Given the description of an element on the screen output the (x, y) to click on. 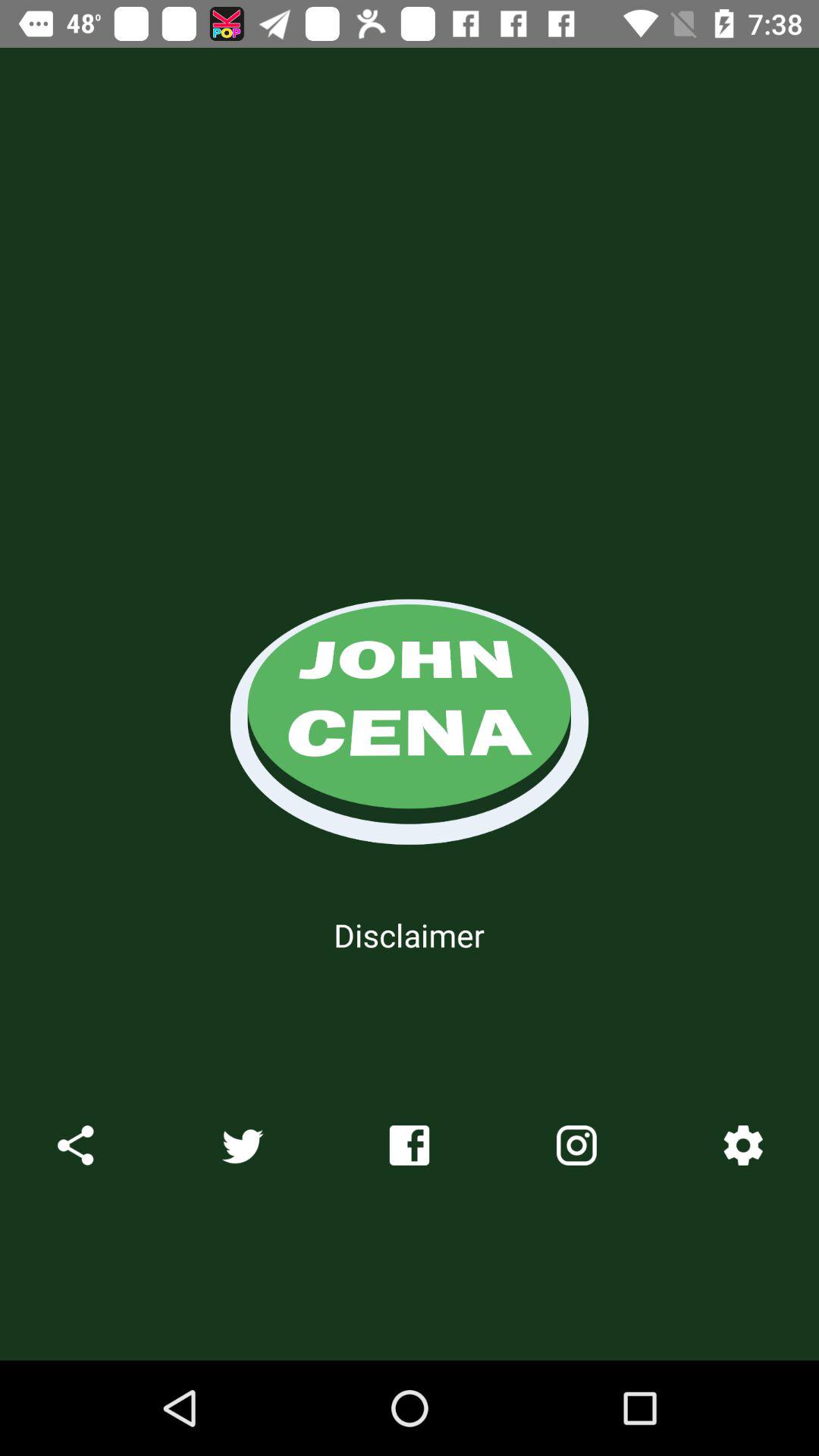
select the disclaimer item (408, 934)
